Given the description of an element on the screen output the (x, y) to click on. 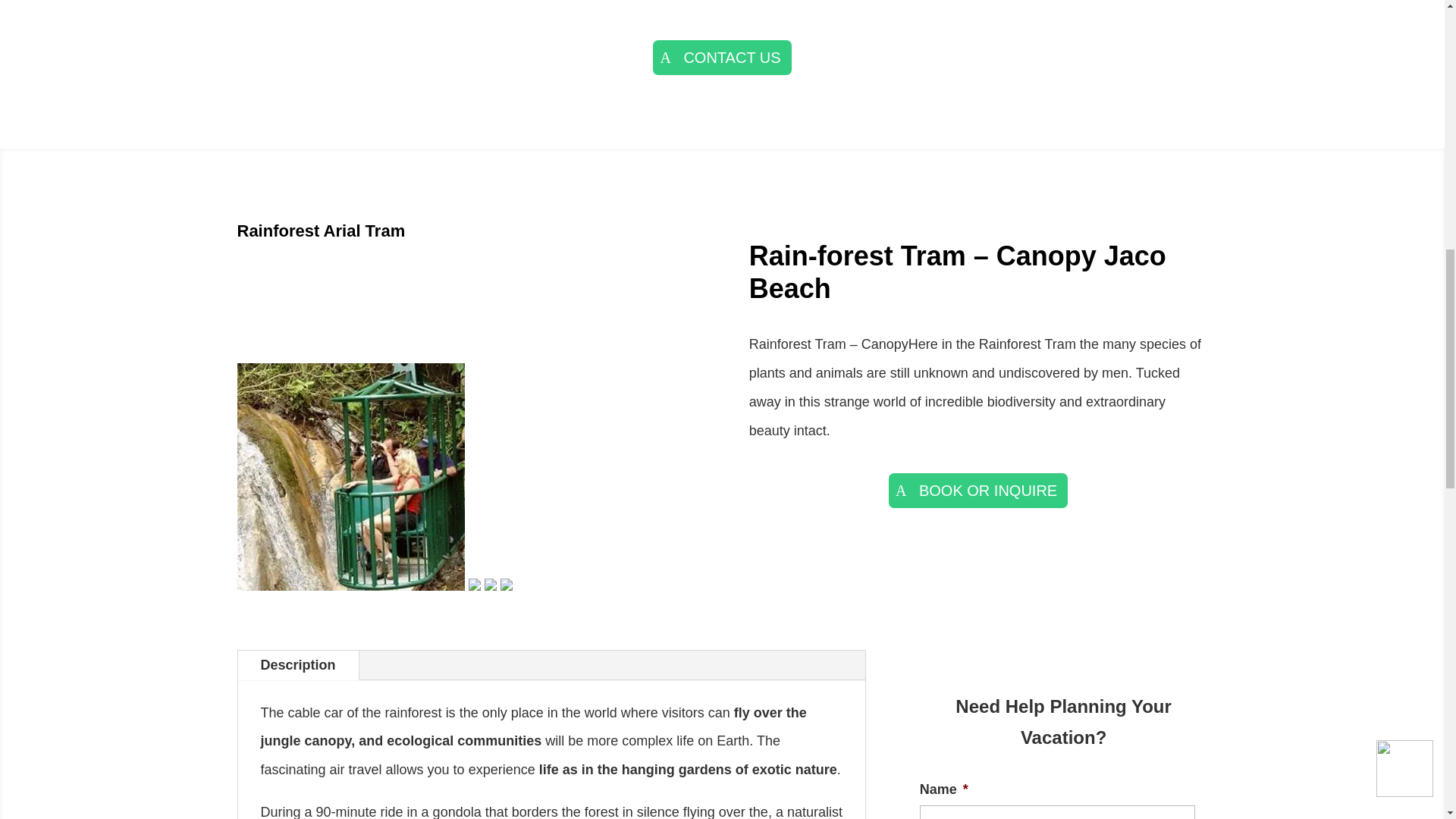
BOOK OR INQUIRE (978, 490)
Description (298, 665)
CONTACT US (722, 57)
